Given the description of an element on the screen output the (x, y) to click on. 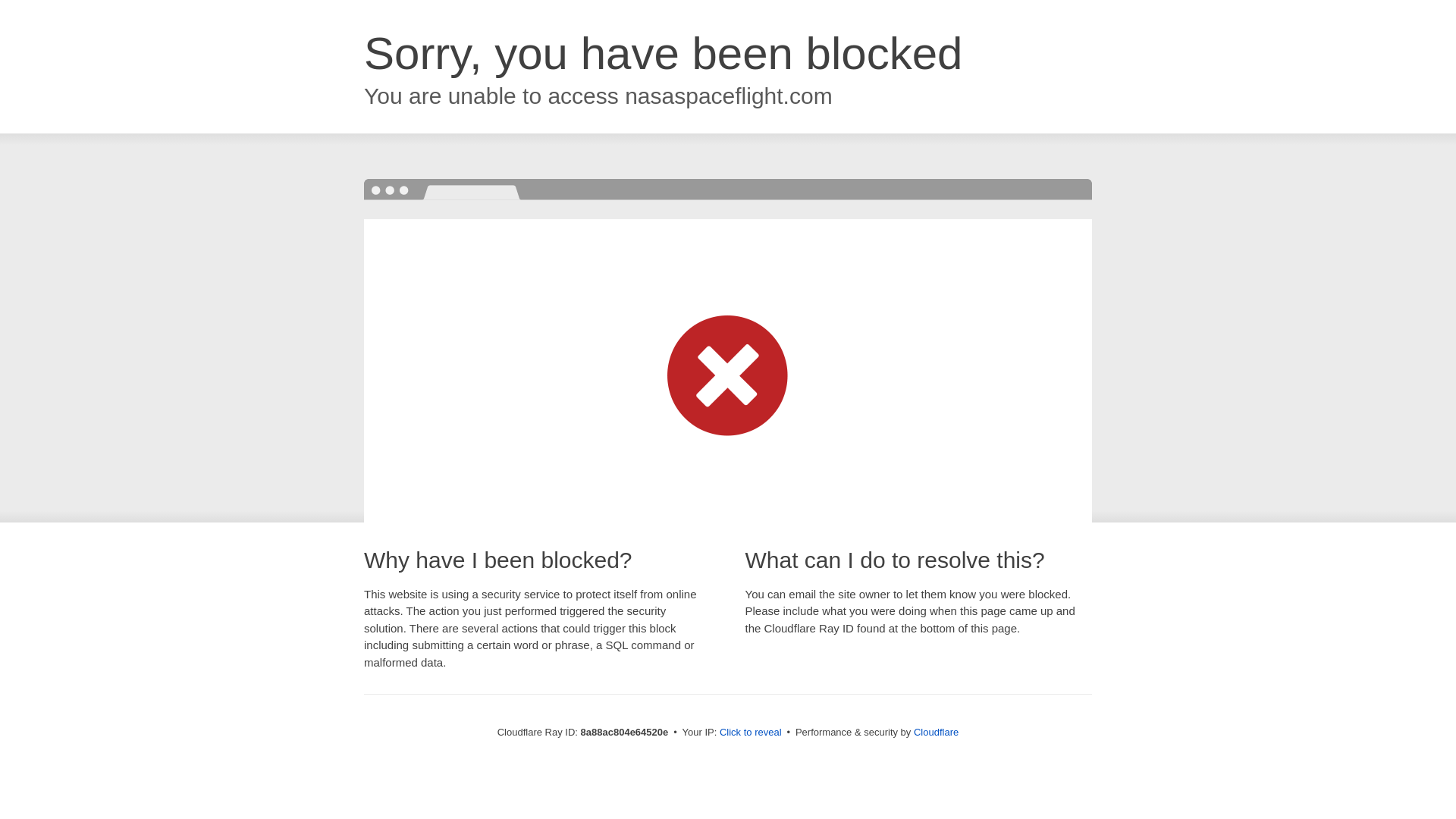
Click to reveal (750, 732)
Cloudflare (936, 731)
